Given the description of an element on the screen output the (x, y) to click on. 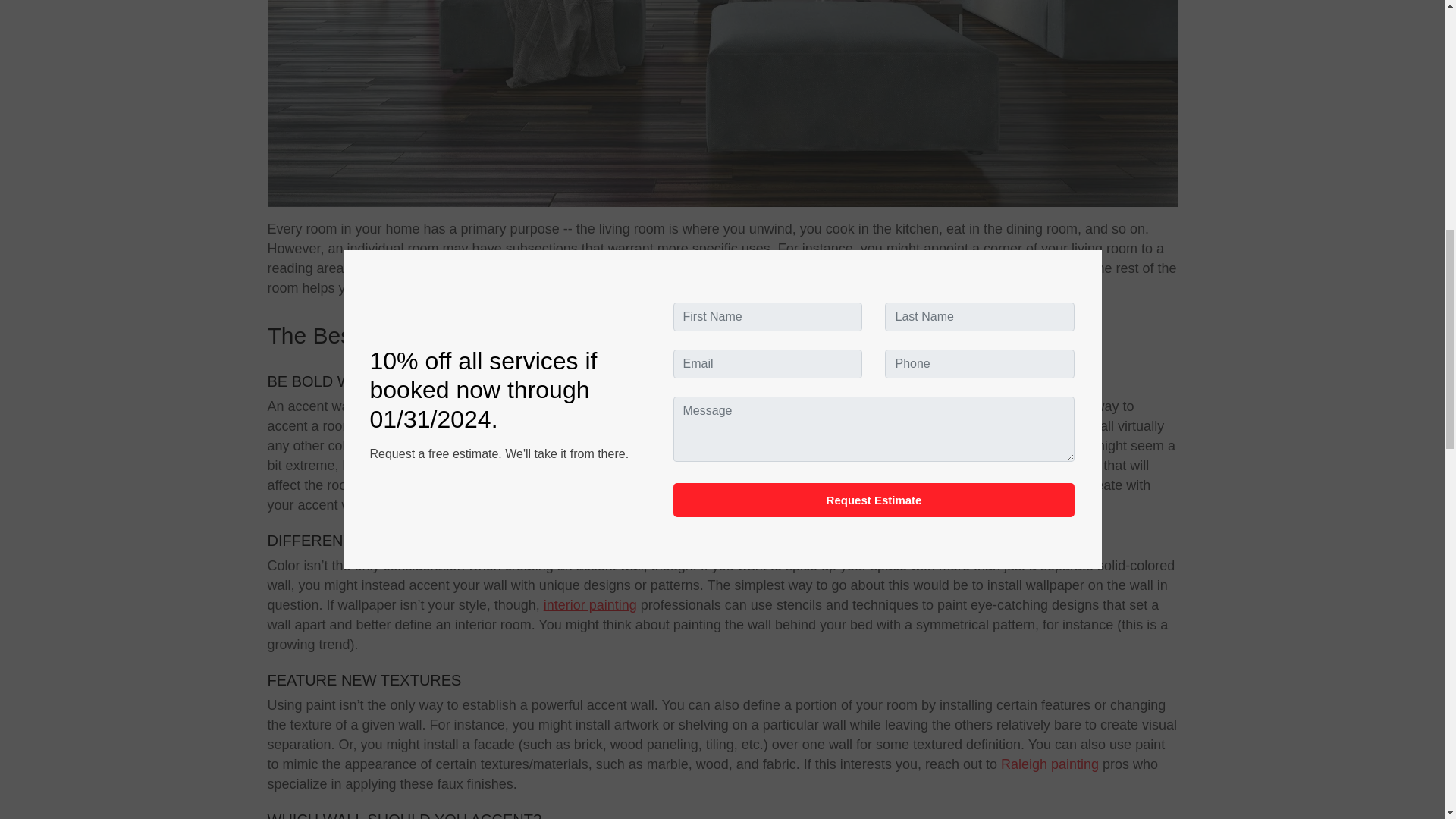
painting a room two colors (507, 426)
accent walls (1024, 287)
Raleigh painting (1050, 764)
interior painting (590, 604)
